Given the description of an element on the screen output the (x, y) to click on. 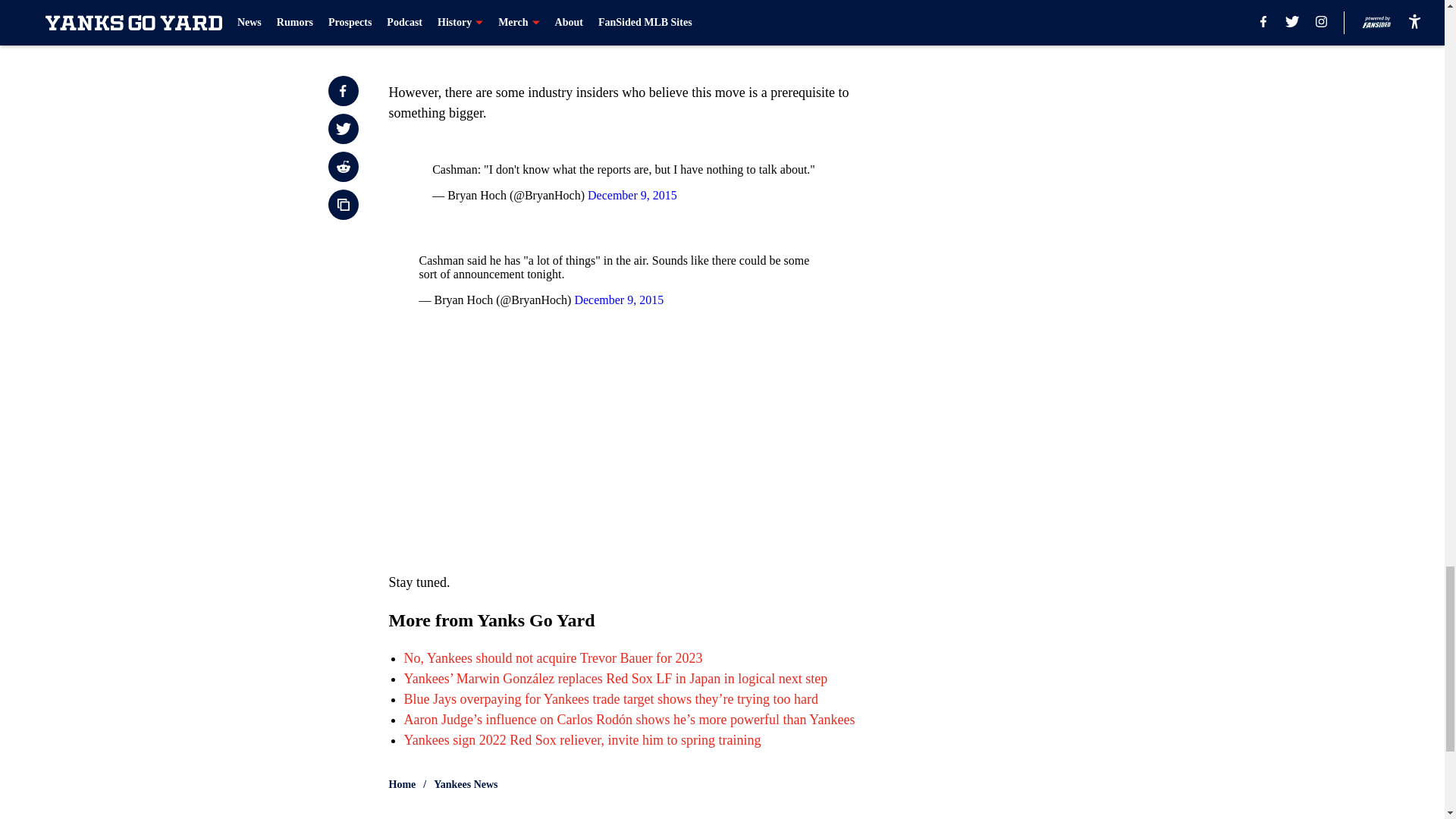
December 9, 2015 (632, 195)
No, Yankees should not acquire Trevor Bauer for 2023 (552, 657)
December 9, 2015 (618, 299)
